Given the description of an element on the screen output the (x, y) to click on. 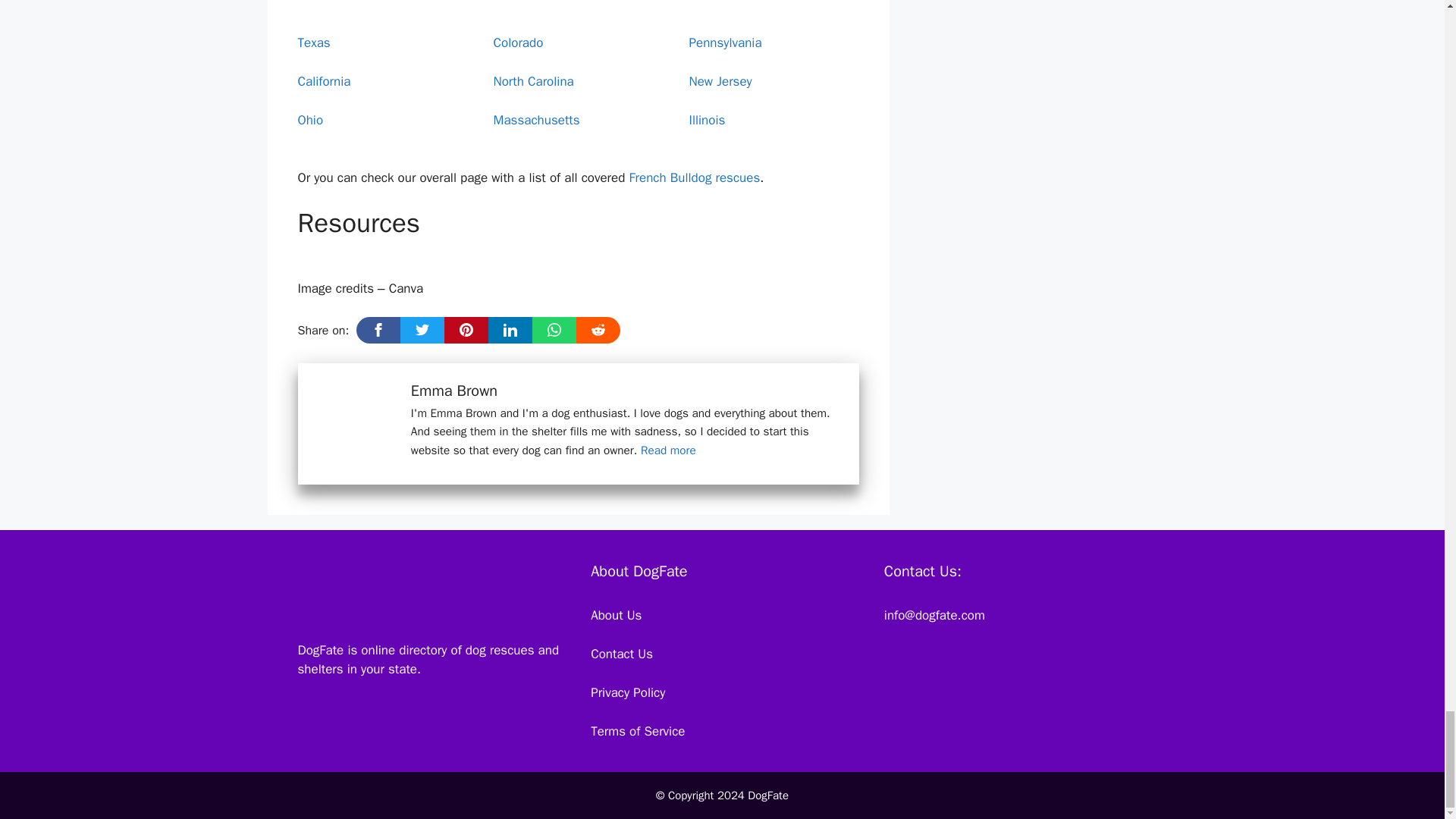
New Jersey (719, 81)
Ohio (310, 119)
Texas (313, 42)
Illinois (706, 119)
North Carolina (533, 81)
Massachusetts (536, 119)
California (323, 81)
Pennsylvania (724, 42)
French Bulldog rescues (694, 177)
Colorado (518, 42)
